Given the description of an element on the screen output the (x, y) to click on. 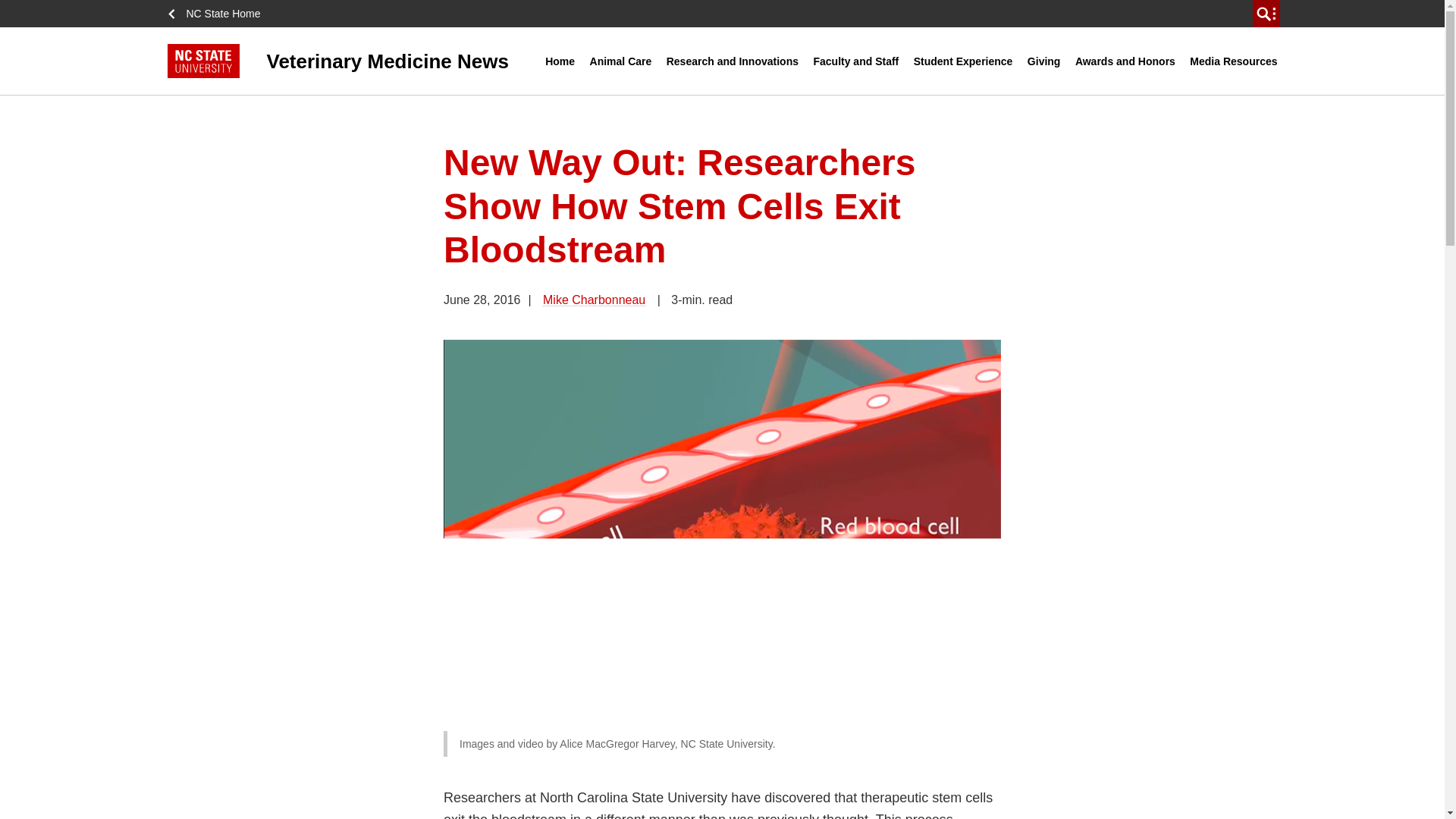
Animal Care (621, 61)
Faculty and Staff (855, 61)
Research and Innovations (732, 61)
Student Experience (963, 61)
Awards and Honors (1125, 61)
Giving (1043, 61)
Home (559, 61)
NC State Home (217, 13)
Veterinary Medicine News (355, 61)
